Given the description of an element on the screen output the (x, y) to click on. 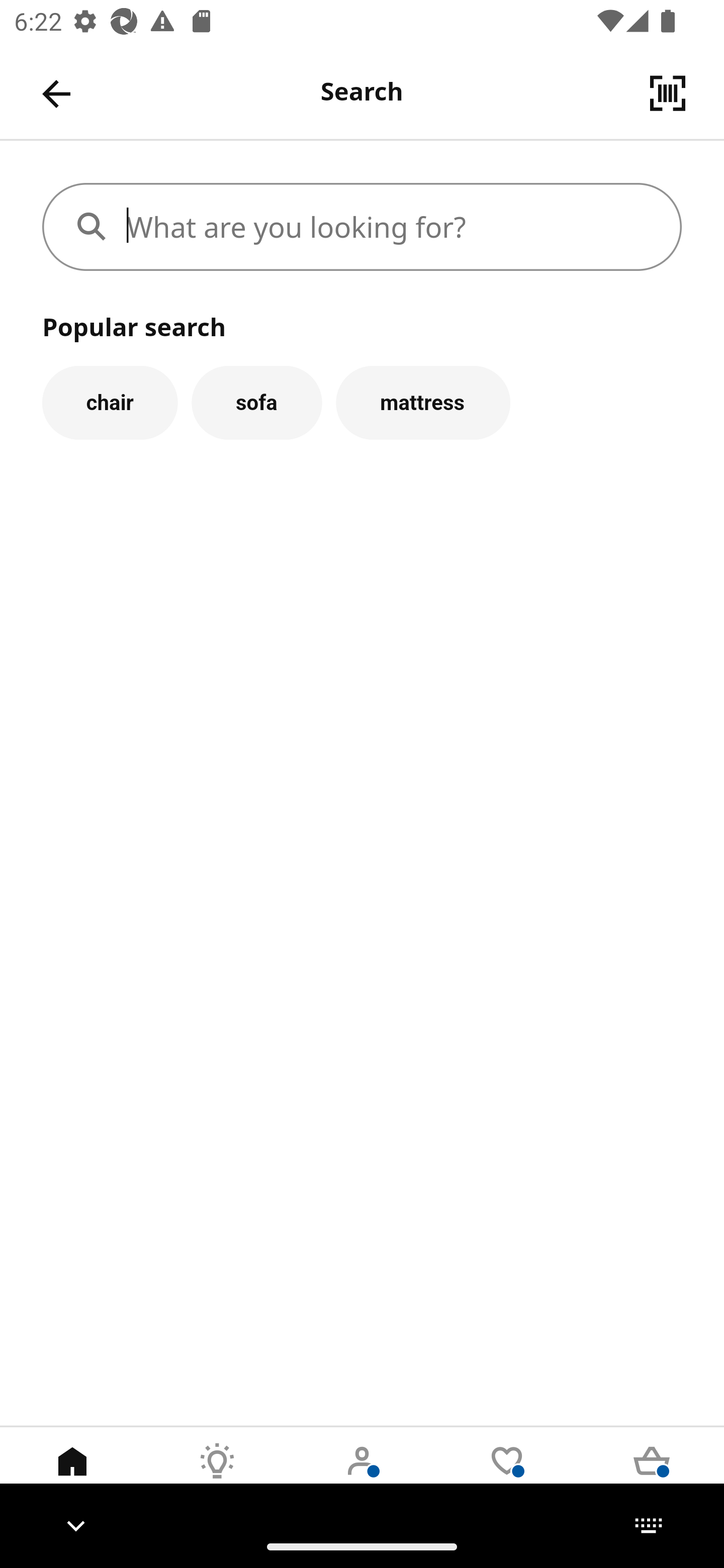
chair (109, 402)
sofa (256, 402)
mattress (423, 402)
Home
Tab 1 of 5 (72, 1476)
Inspirations
Tab 2 of 5 (216, 1476)
User
Tab 3 of 5 (361, 1476)
Wishlist
Tab 4 of 5 (506, 1476)
Cart
Tab 5 of 5 (651, 1476)
